Given the description of an element on the screen output the (x, y) to click on. 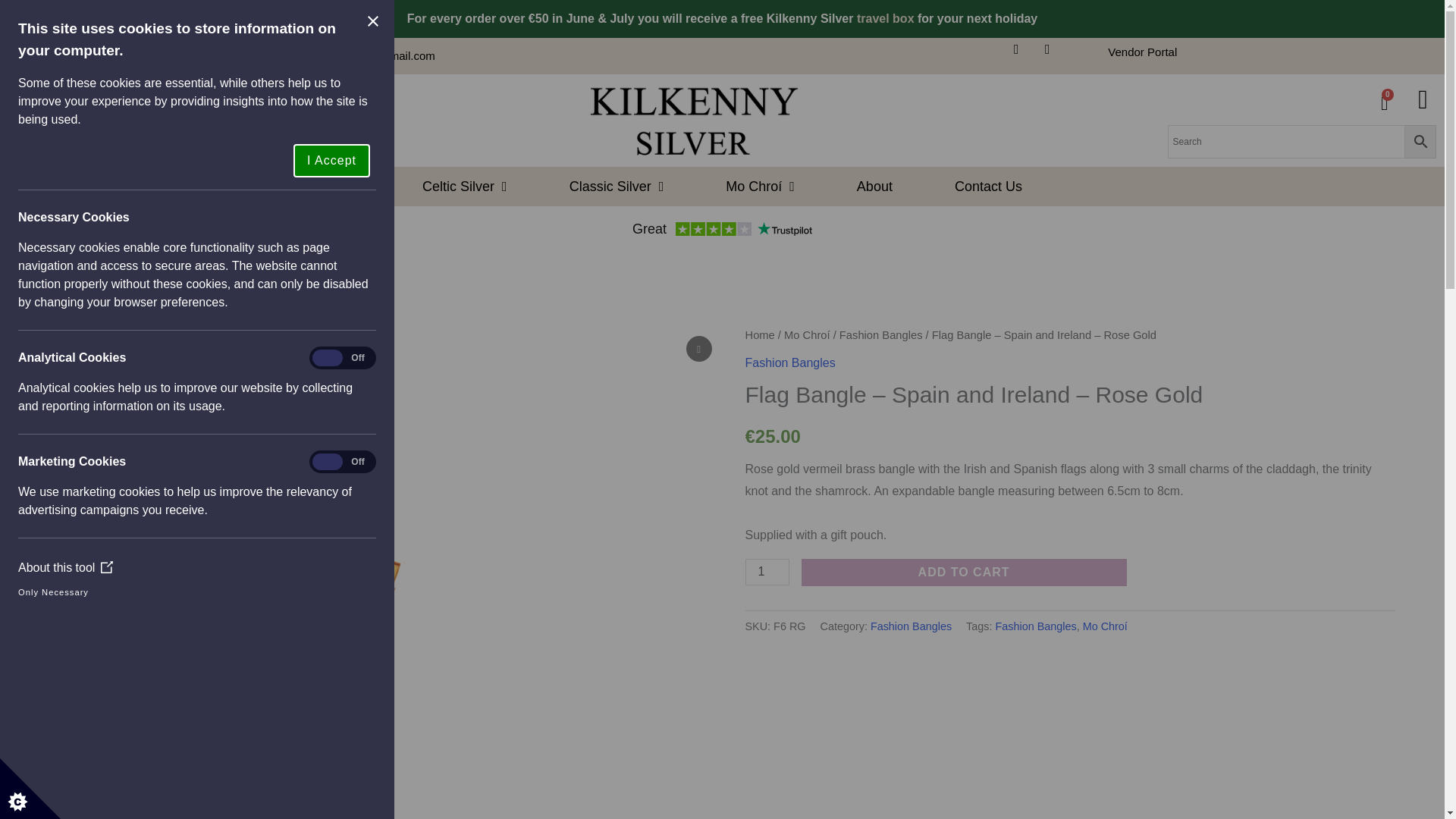
1 (766, 571)
Classic Silver (616, 186)
Instagram (1054, 55)
travel box (885, 18)
Only Necessary (33, 592)
I Accept (292, 160)
Contact Us (987, 186)
Celtic Silver (1384, 103)
About (464, 186)
Vendor Portal (874, 186)
Facebook-f (1142, 51)
